Given the description of an element on the screen output the (x, y) to click on. 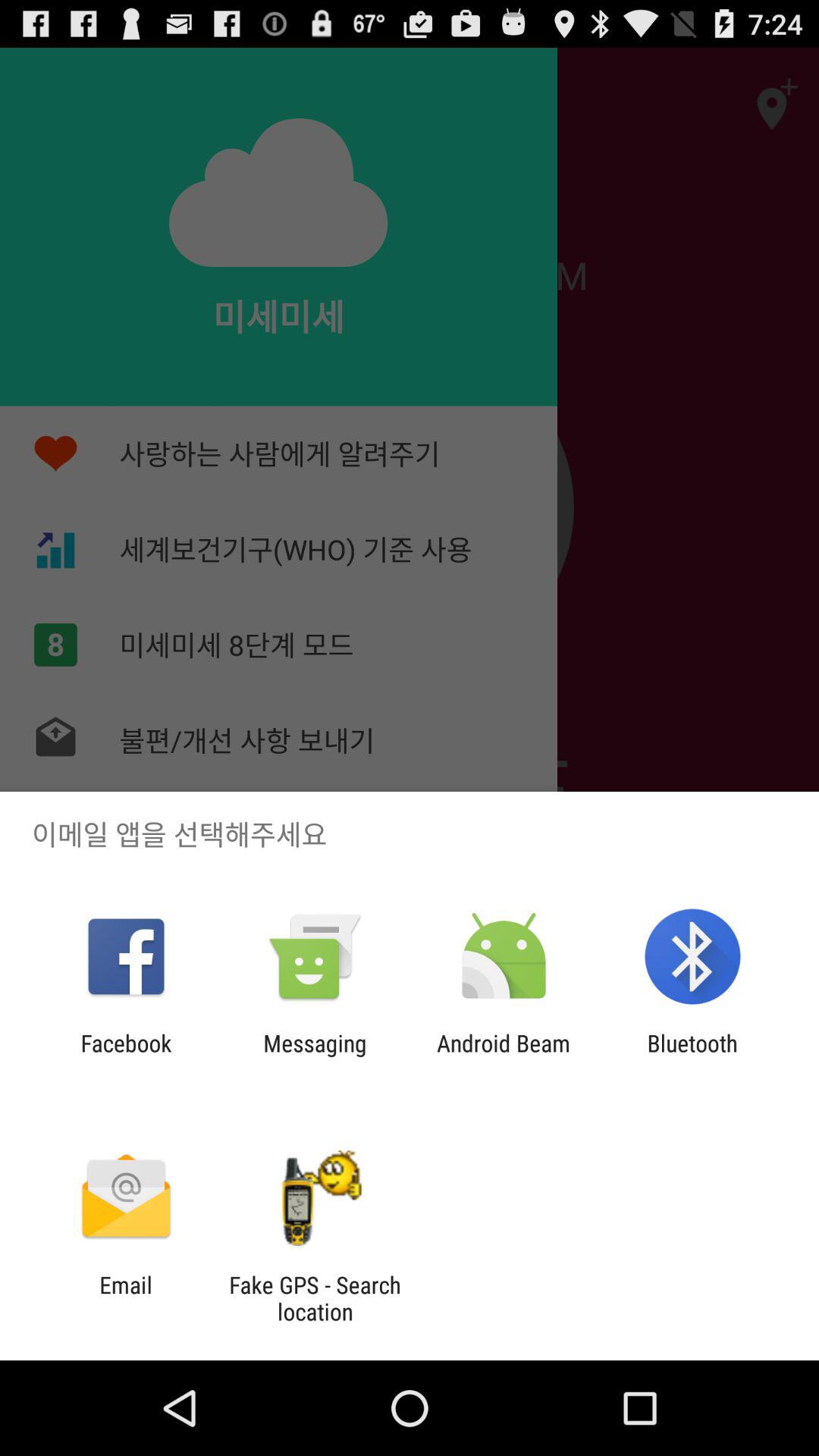
choose the app to the left of bluetooth app (503, 1056)
